Given the description of an element on the screen output the (x, y) to click on. 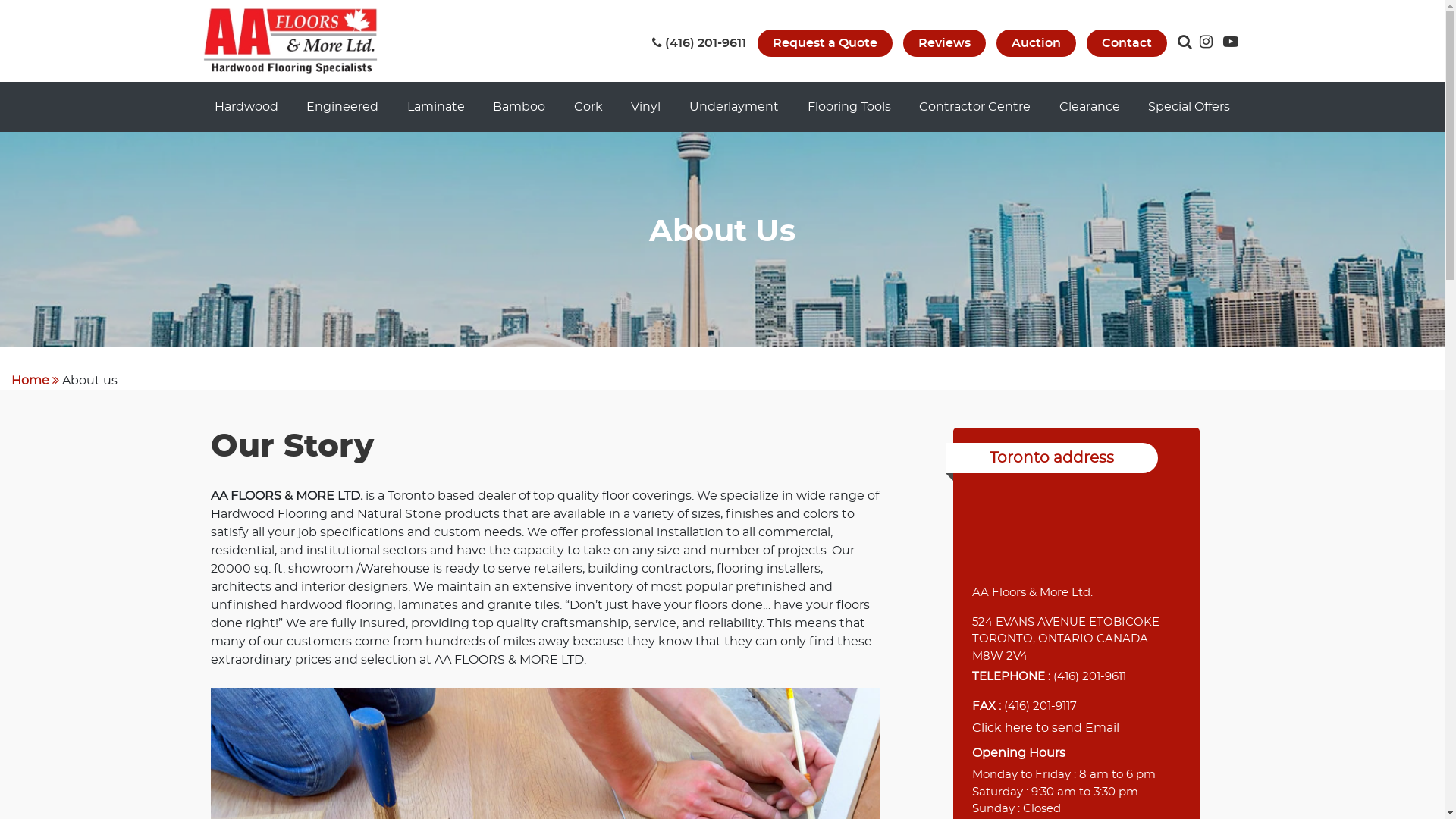
Vinyl Element type: text (645, 106)
Hardwood Element type: text (245, 106)
(416) 201-9611 Element type: text (1089, 676)
Contact Element type: text (1125, 42)
Cork Element type: text (588, 106)
Laminate Element type: text (435, 106)
Clearance Element type: text (1089, 106)
Auction Element type: text (1036, 42)
Flooring Tools Element type: text (849, 106)
 (416) 201-9611 Element type: text (699, 43)
Click here to send Email Element type: text (1045, 727)
Reviews Element type: text (943, 42)
Request a Quote Element type: text (823, 42)
Contractor Centre Element type: text (974, 106)
Engineered Element type: text (342, 106)
Special Offers Element type: text (1189, 106)
Home Element type: text (30, 380)
Underlayment Element type: text (733, 106)
Bamboo Element type: text (518, 106)
